Given the description of an element on the screen output the (x, y) to click on. 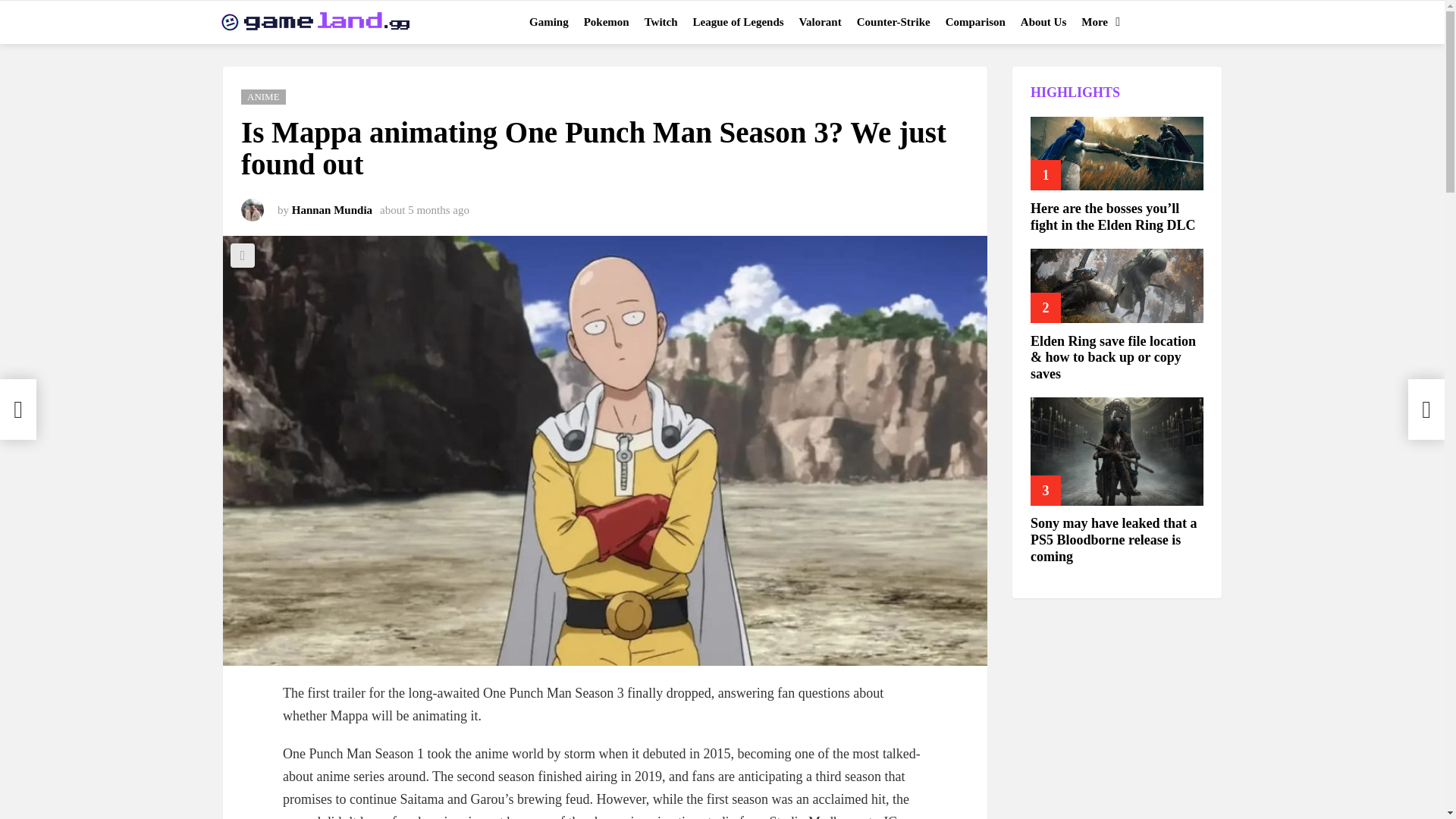
About Us (1043, 21)
ANIME (263, 96)
League of Legends (738, 21)
Sony may have leaked that a PS5 Bloodborne release is coming (1117, 451)
Posts by Hannan Mundia (332, 209)
Counter-Strike (892, 21)
Valorant (820, 21)
Pokemon (606, 21)
Comparison (975, 21)
Gaming (548, 21)
Hannan Mundia (332, 209)
More (1096, 21)
Twitch (661, 21)
